Given the description of an element on the screen output the (x, y) to click on. 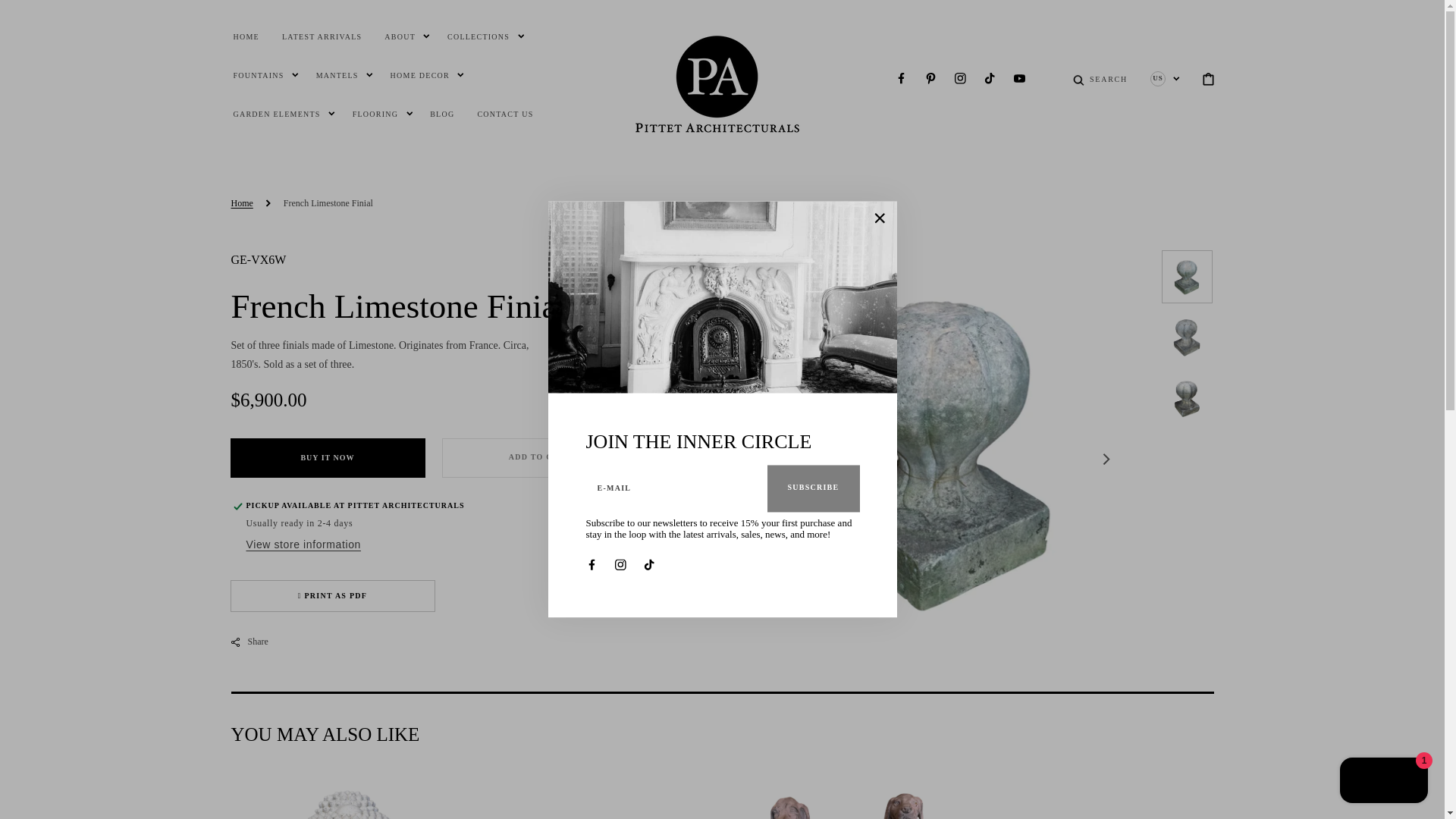
Search (1107, 89)
HOME (245, 36)
SKIP TO CONTENT (45, 14)
GARDEN ELEMENTS (276, 113)
COLLECTIONS (477, 36)
BLOG (441, 113)
HOME DECOR (419, 75)
FLOORING (375, 113)
Shopify online store chat (1383, 781)
LATEST ARRIVALS (321, 36)
ABOUT (399, 36)
CONTACT US (504, 113)
MANTELS (336, 75)
FOUNTAINS (257, 75)
